Given the description of an element on the screen output the (x, y) to click on. 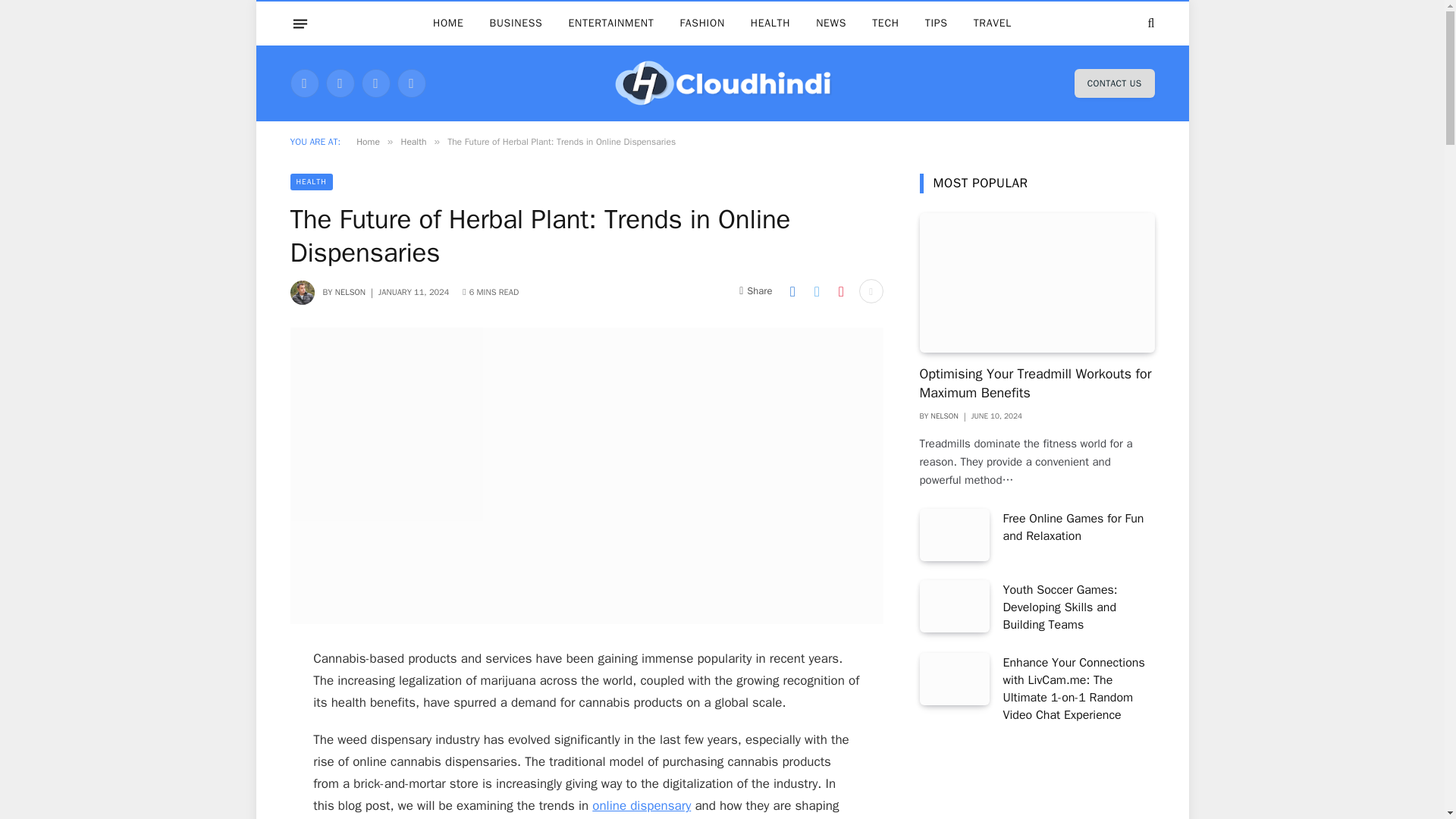
TRAVEL (992, 23)
NELSON (349, 291)
FASHION (701, 23)
Cloud Hindi (721, 83)
Posts by Nelson (349, 291)
HOME (448, 23)
HEALTH (310, 181)
NEWS (831, 23)
BUSINESS (516, 23)
TIPS (936, 23)
